Given the description of an element on the screen output the (x, y) to click on. 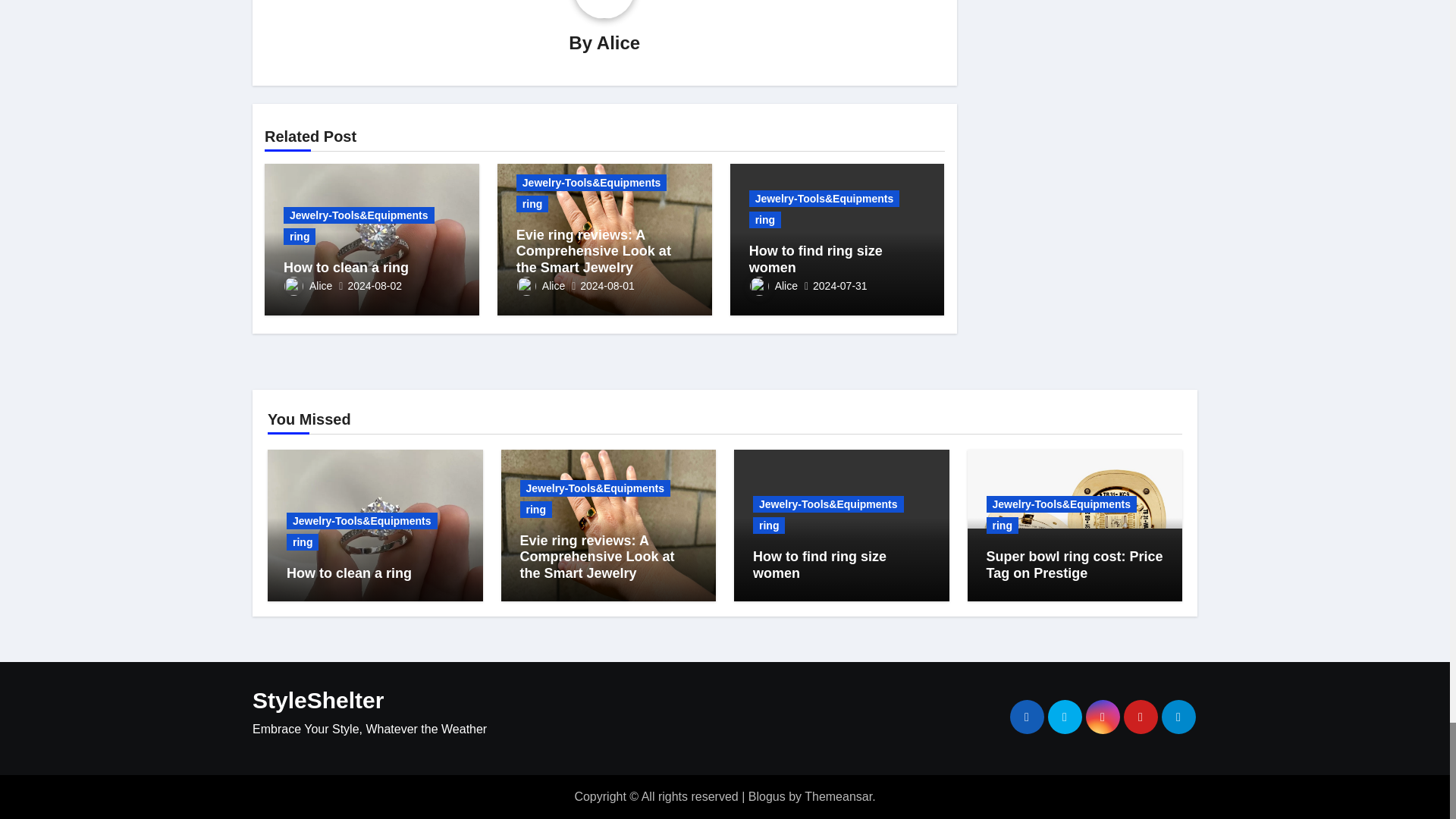
Permalink to: How to clean a ring (346, 267)
Permalink to: How to clean a ring (349, 572)
Permalink to: How to find ring size women (819, 564)
Permalink to: Super bowl ring cost: Price Tag on Prestige (1073, 564)
Permalink to: How to find ring size women (815, 259)
